Given the description of an element on the screen output the (x, y) to click on. 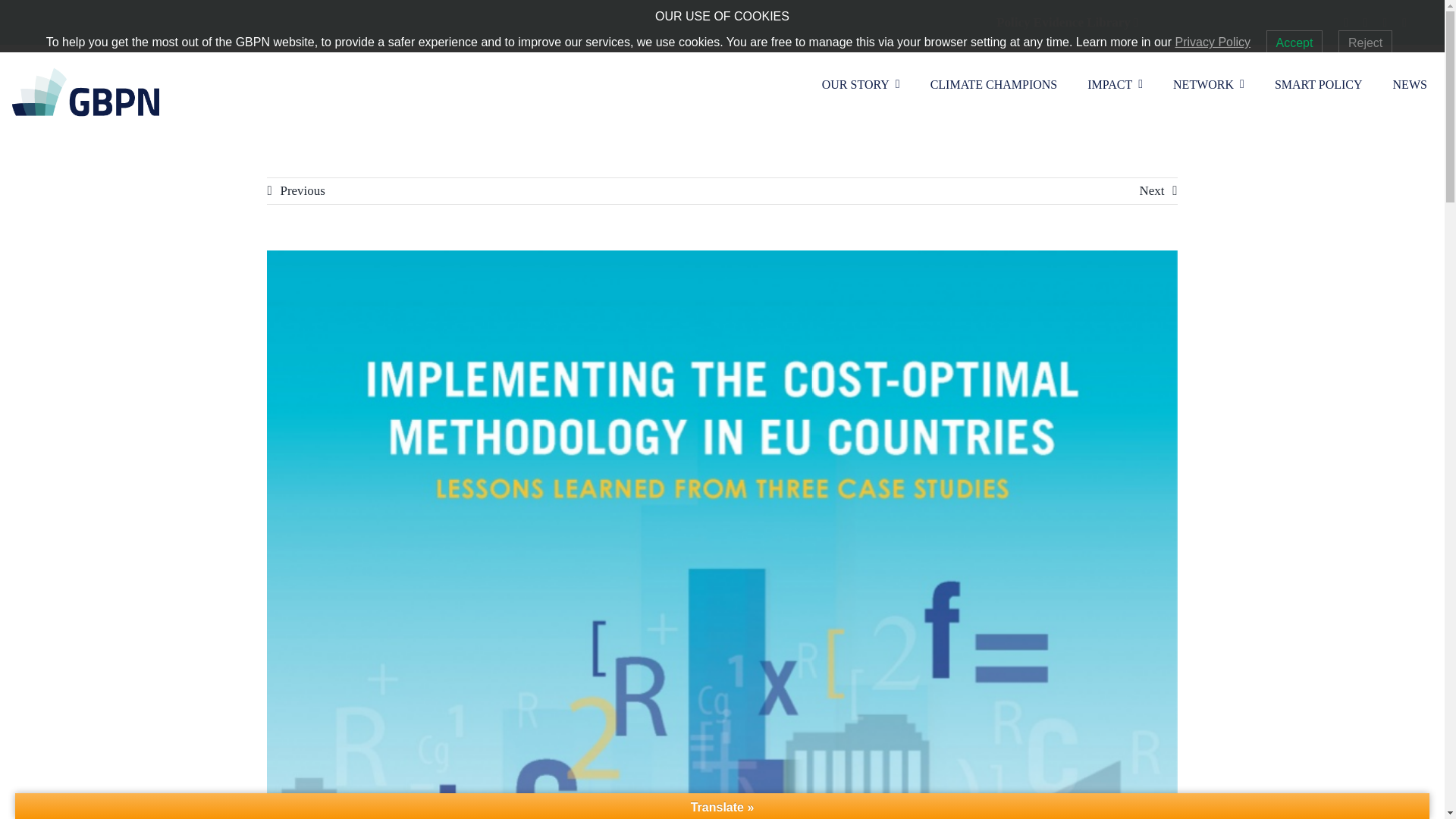
SMART POLICY (1326, 83)
OUR STORY (868, 83)
NETWORK (1216, 83)
IMPACT (1123, 83)
CLIMATE CHAMPIONS (1001, 83)
Policy Evidence Library (1063, 22)
